Given the description of an element on the screen output the (x, y) to click on. 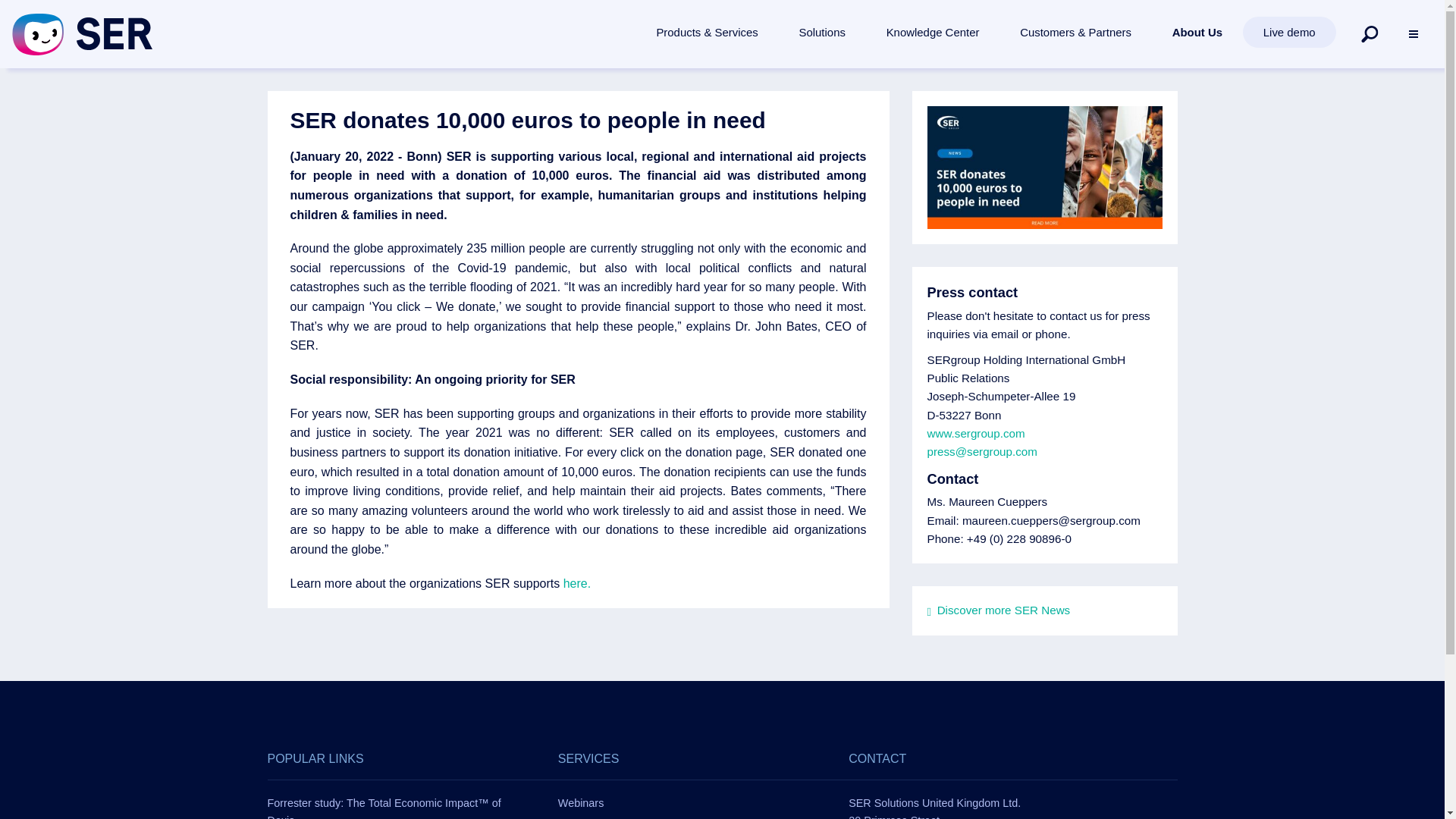
Solutions (822, 32)
Live demo (1289, 31)
About the SER Group (1197, 32)
Search (1370, 33)
Knowledge Center (933, 32)
Knowledge Center (933, 32)
